Given the description of an element on the screen output the (x, y) to click on. 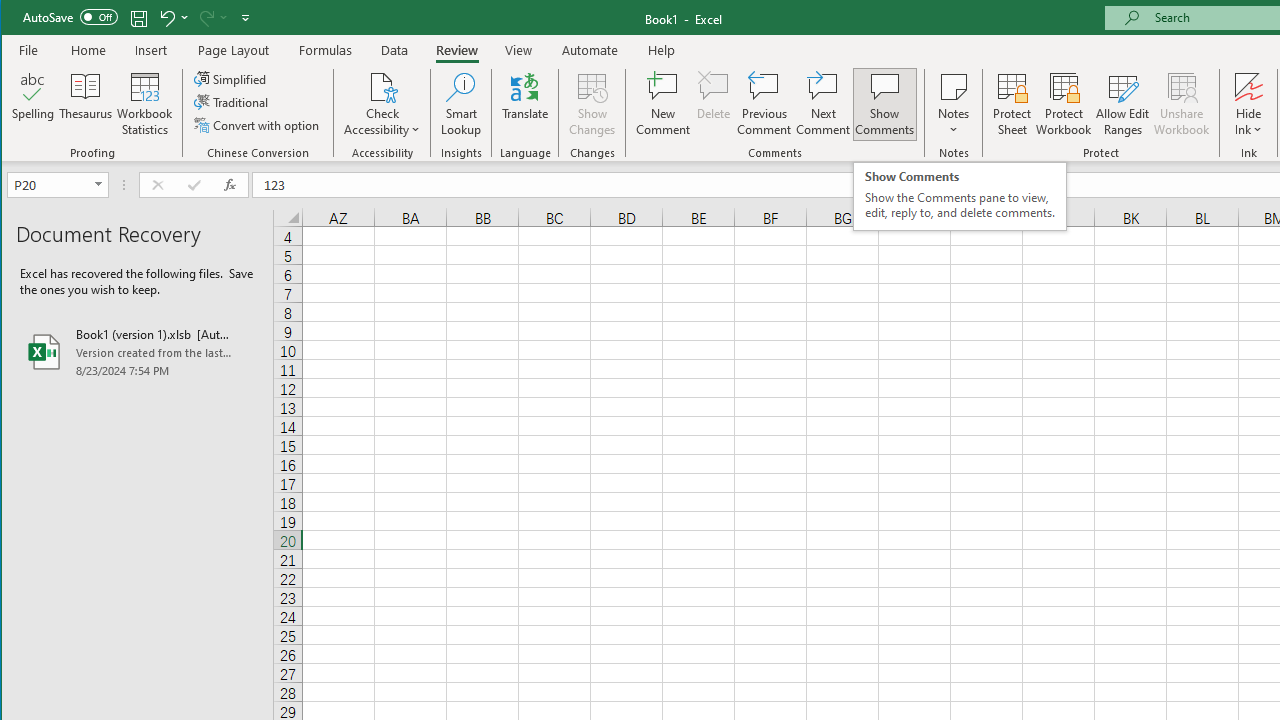
New Comment (662, 104)
Allow Edit Ranges (1123, 104)
Smart Lookup (461, 104)
Show Changes (592, 104)
Previous Comment (763, 104)
Notes (954, 104)
Show Comments (884, 104)
